Given the description of an element on the screen output the (x, y) to click on. 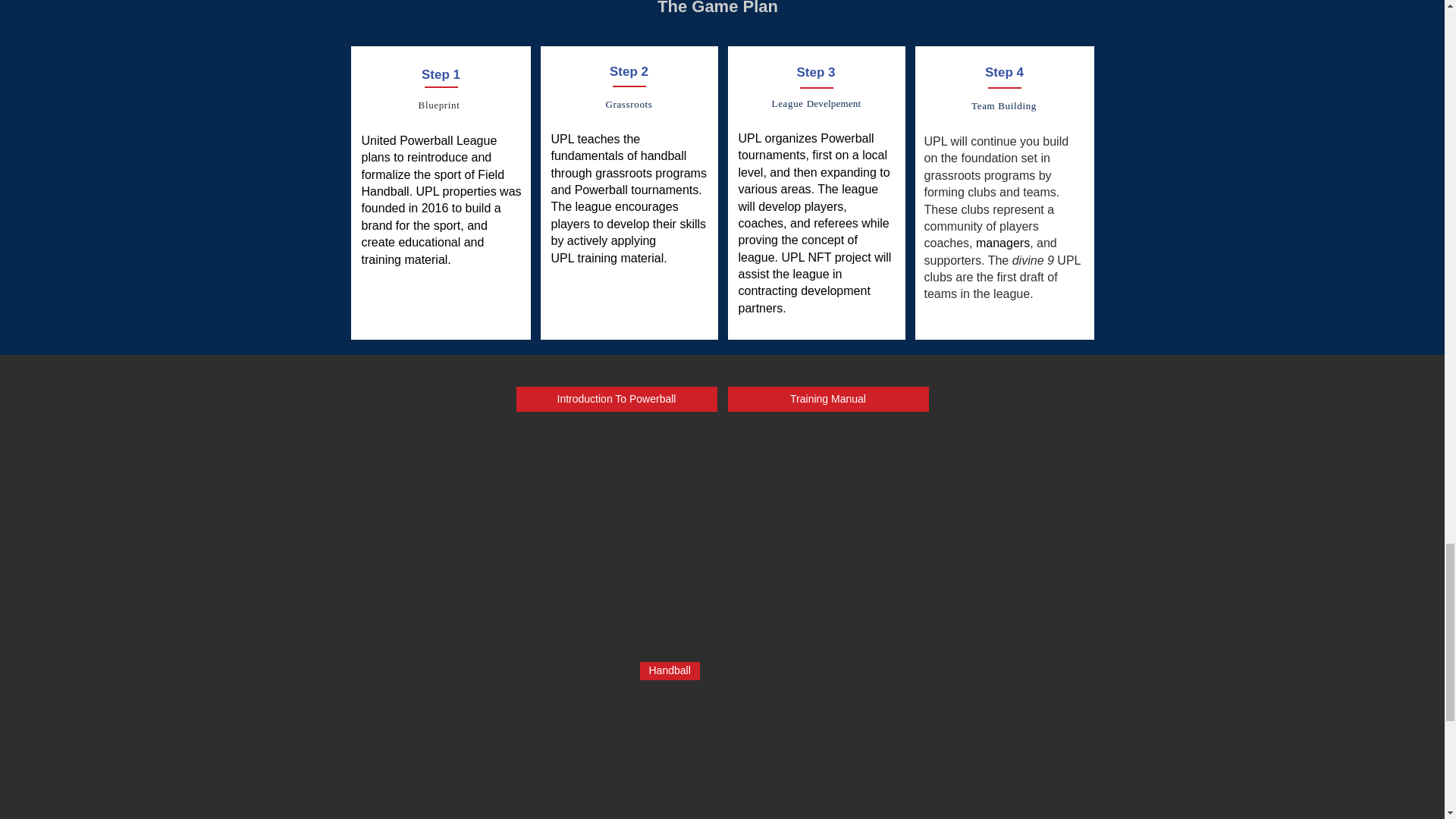
Training Manual (828, 398)
Introduction To Powerball (615, 398)
training material.  (622, 257)
Handball (722, 740)
